Given the description of an element on the screen output the (x, y) to click on. 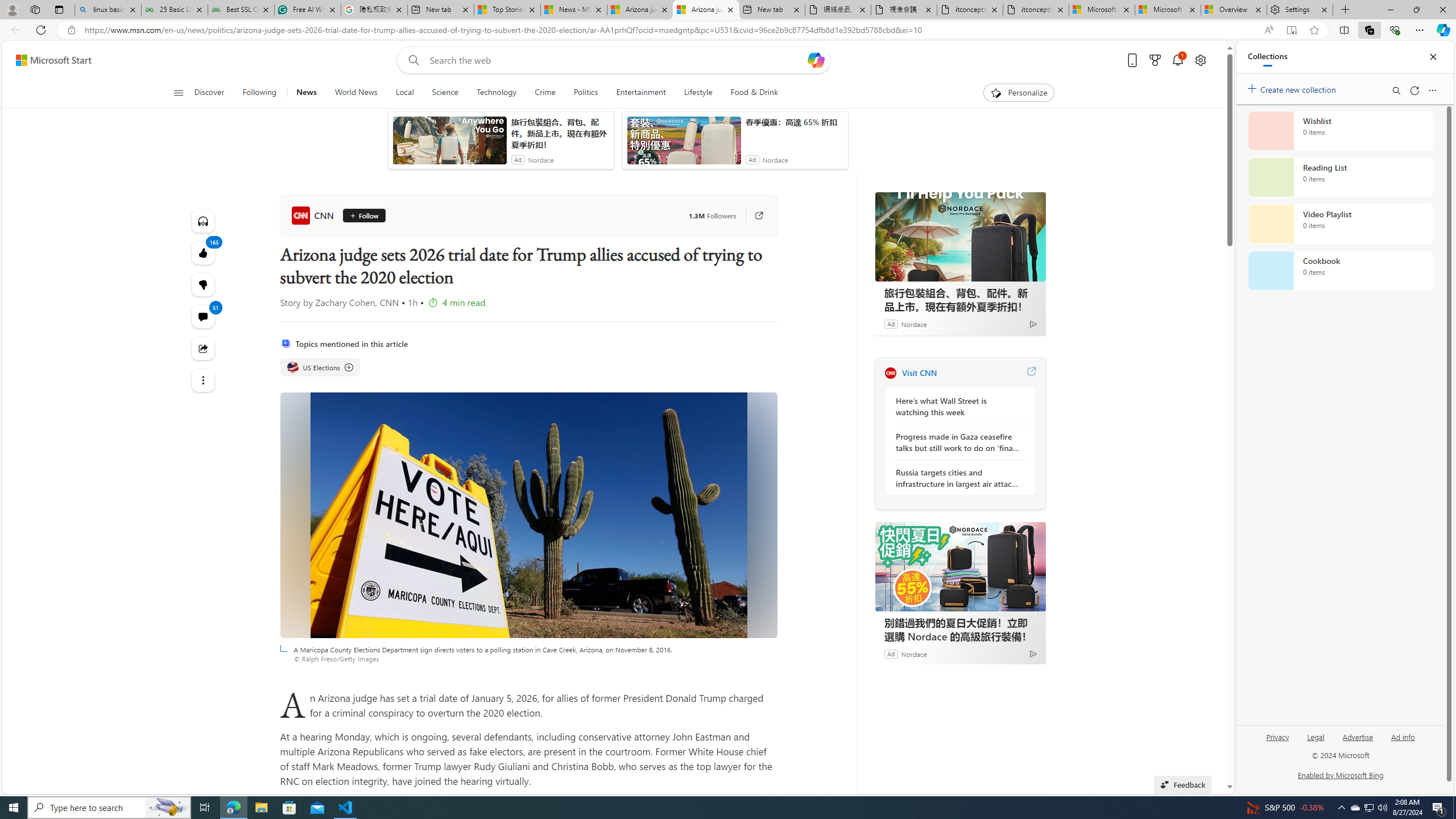
Skip to content (49, 59)
165 Like (202, 252)
Create new collection (1293, 87)
anim-content (683, 144)
Ad Choice (1032, 653)
Technology (496, 92)
itconcepthk.com/projector_solutions.mp4 (1036, 9)
Notifications (1177, 60)
Dislike (202, 284)
Free AI Writing Assistance for Students | Grammarly (307, 9)
